Given the description of an element on the screen output the (x, y) to click on. 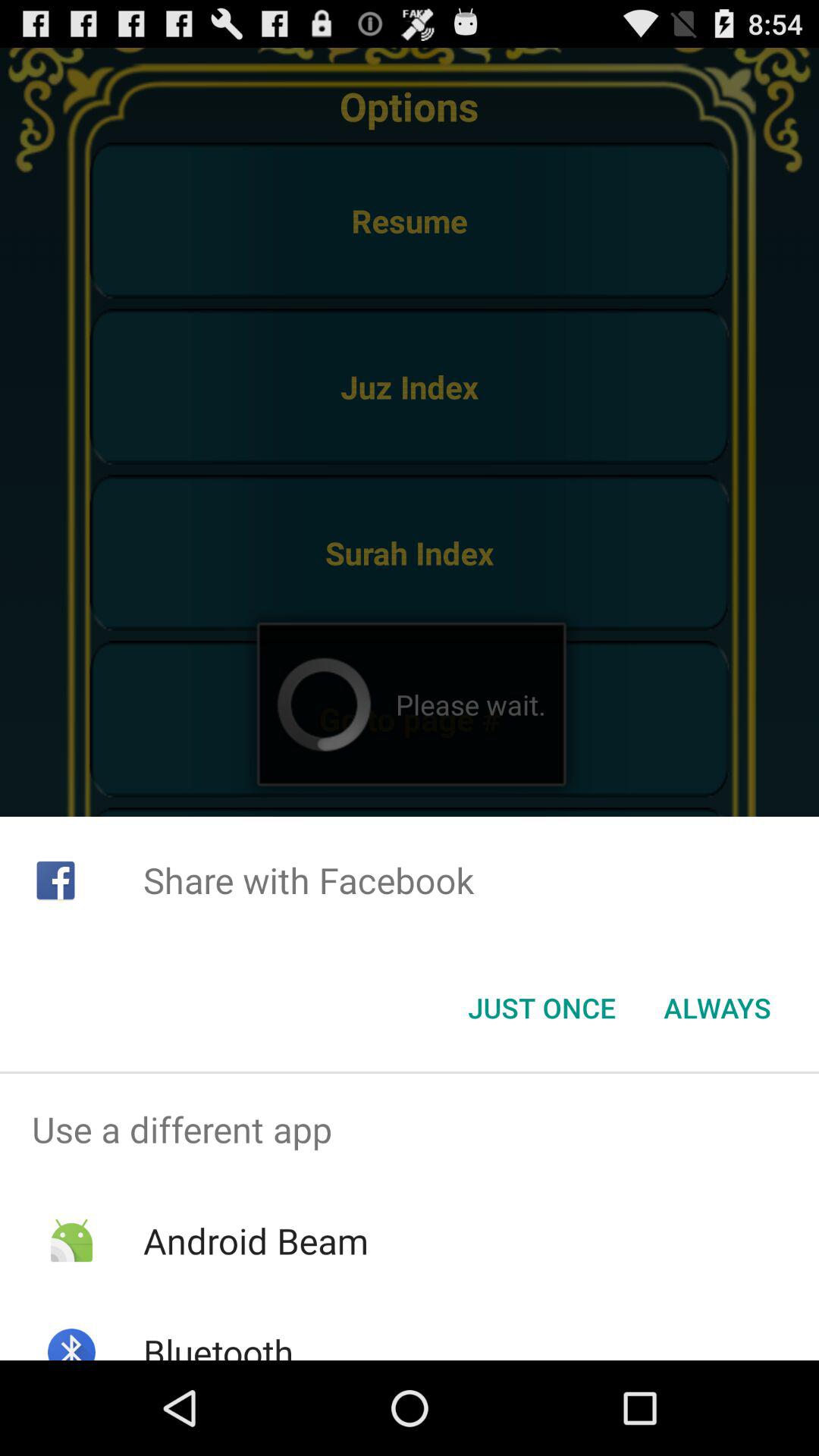
press button next to the just once item (717, 1007)
